Given the description of an element on the screen output the (x, y) to click on. 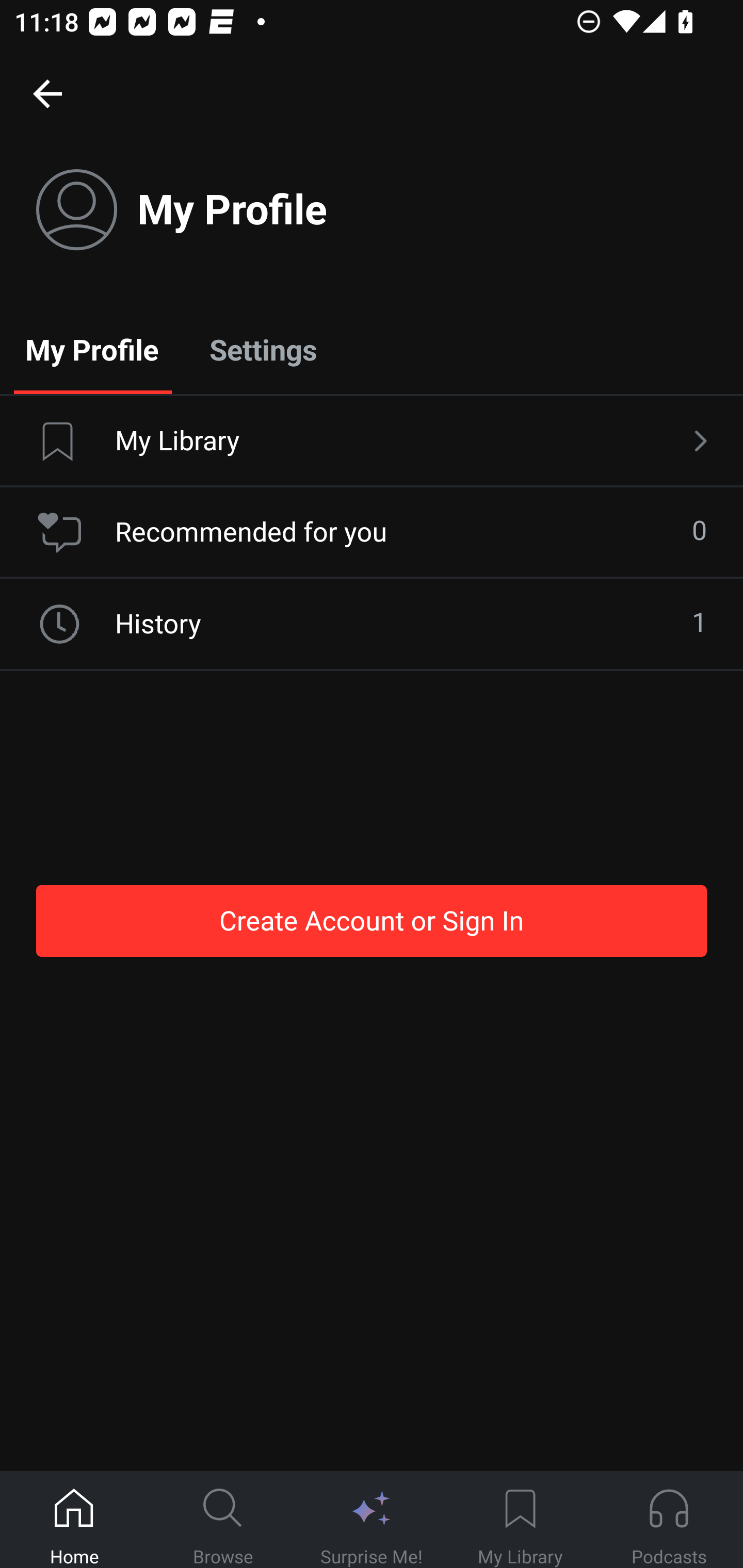
Home, back (47, 92)
My Profile (92, 348)
Settings (263, 348)
My Library (371, 441)
Recommended for you 0 (371, 532)
History 1 (371, 623)
Create Account or Sign In (371, 920)
Home (74, 1520)
Browse (222, 1520)
Surprise Me! (371, 1520)
My Library (519, 1520)
Podcasts (668, 1520)
